Given the description of an element on the screen output the (x, y) to click on. 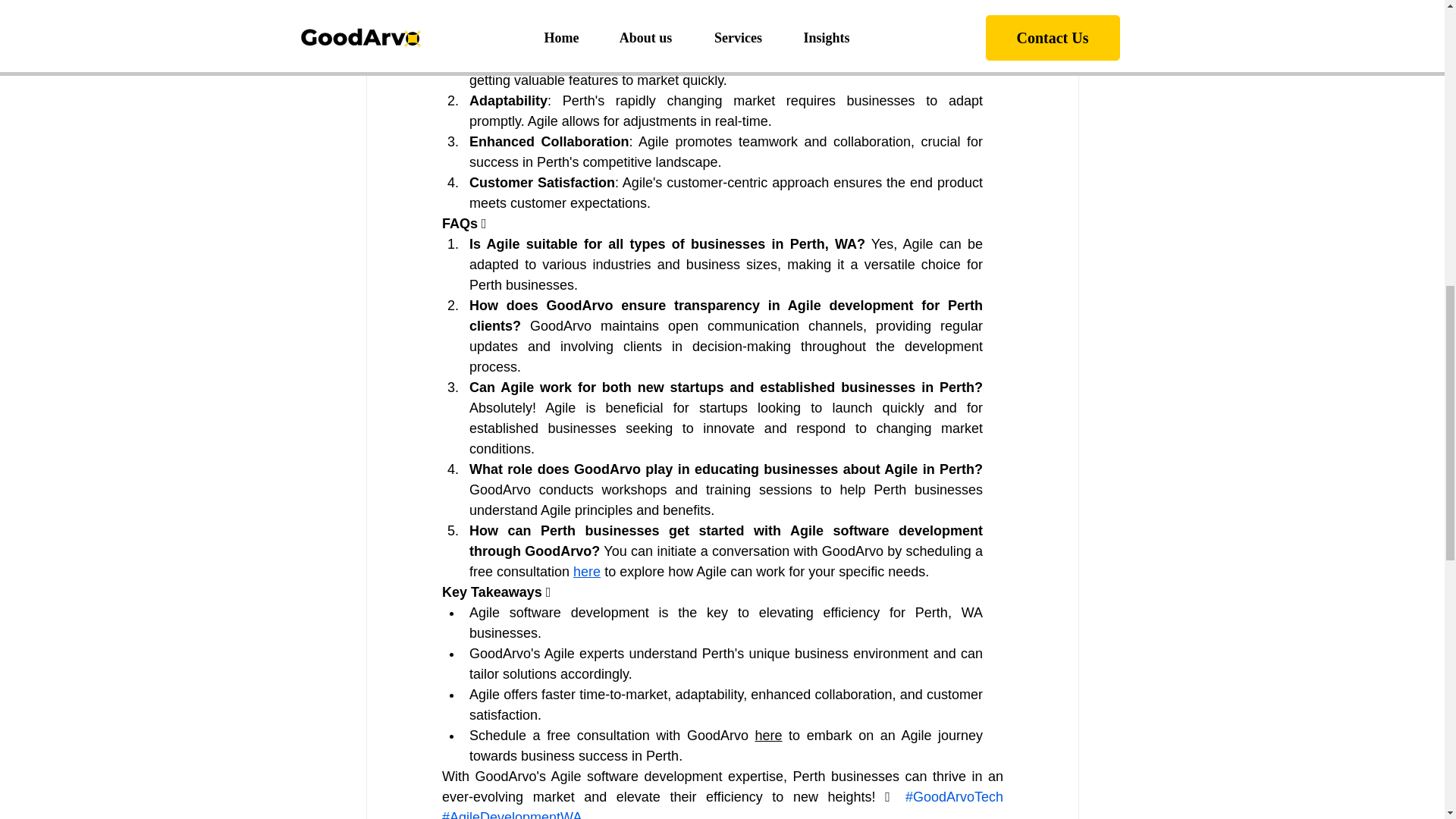
here (586, 571)
